Given the description of an element on the screen output the (x, y) to click on. 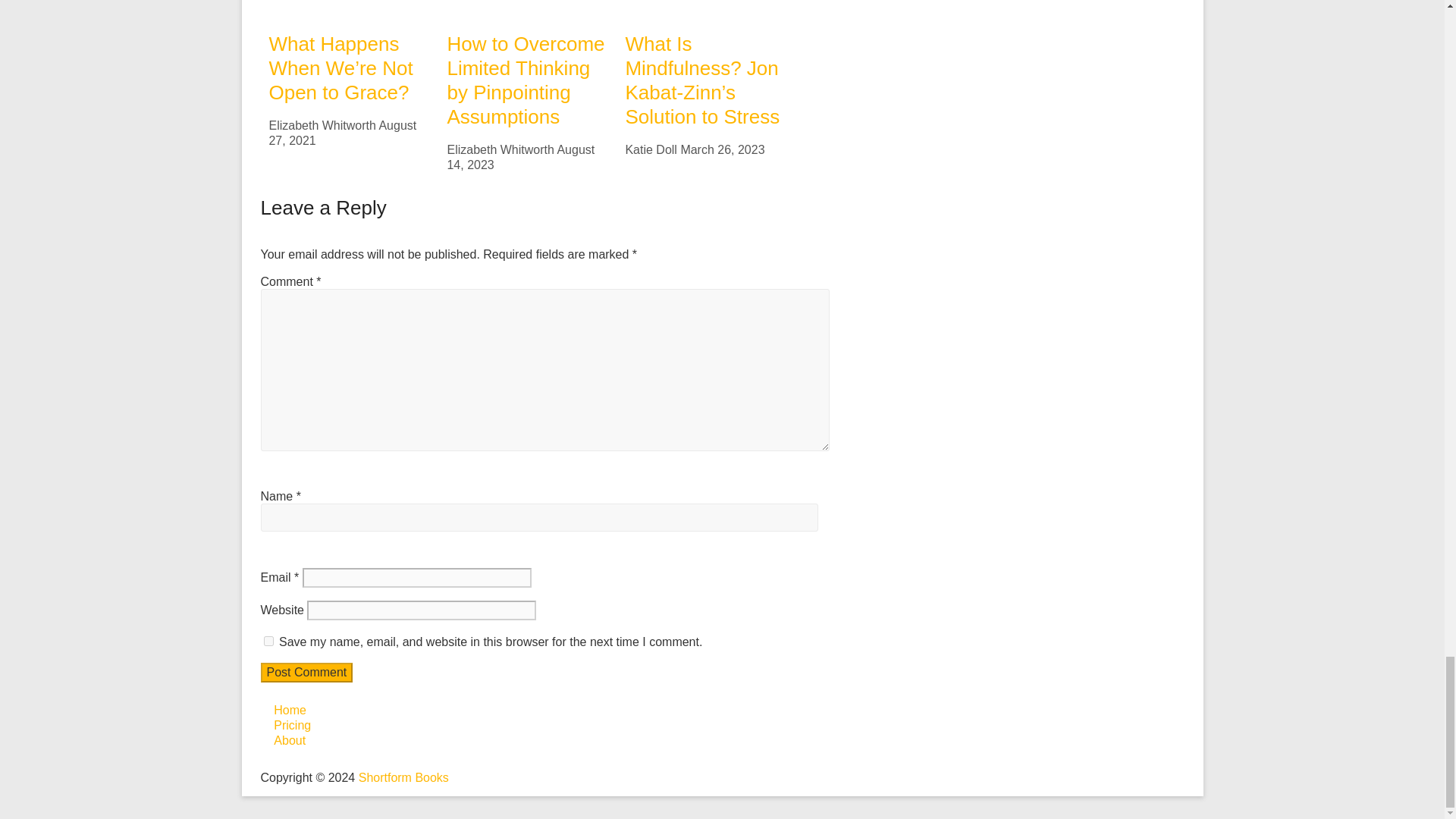
yes (268, 641)
Post Comment (306, 672)
